Given the description of an element on the screen output the (x, y) to click on. 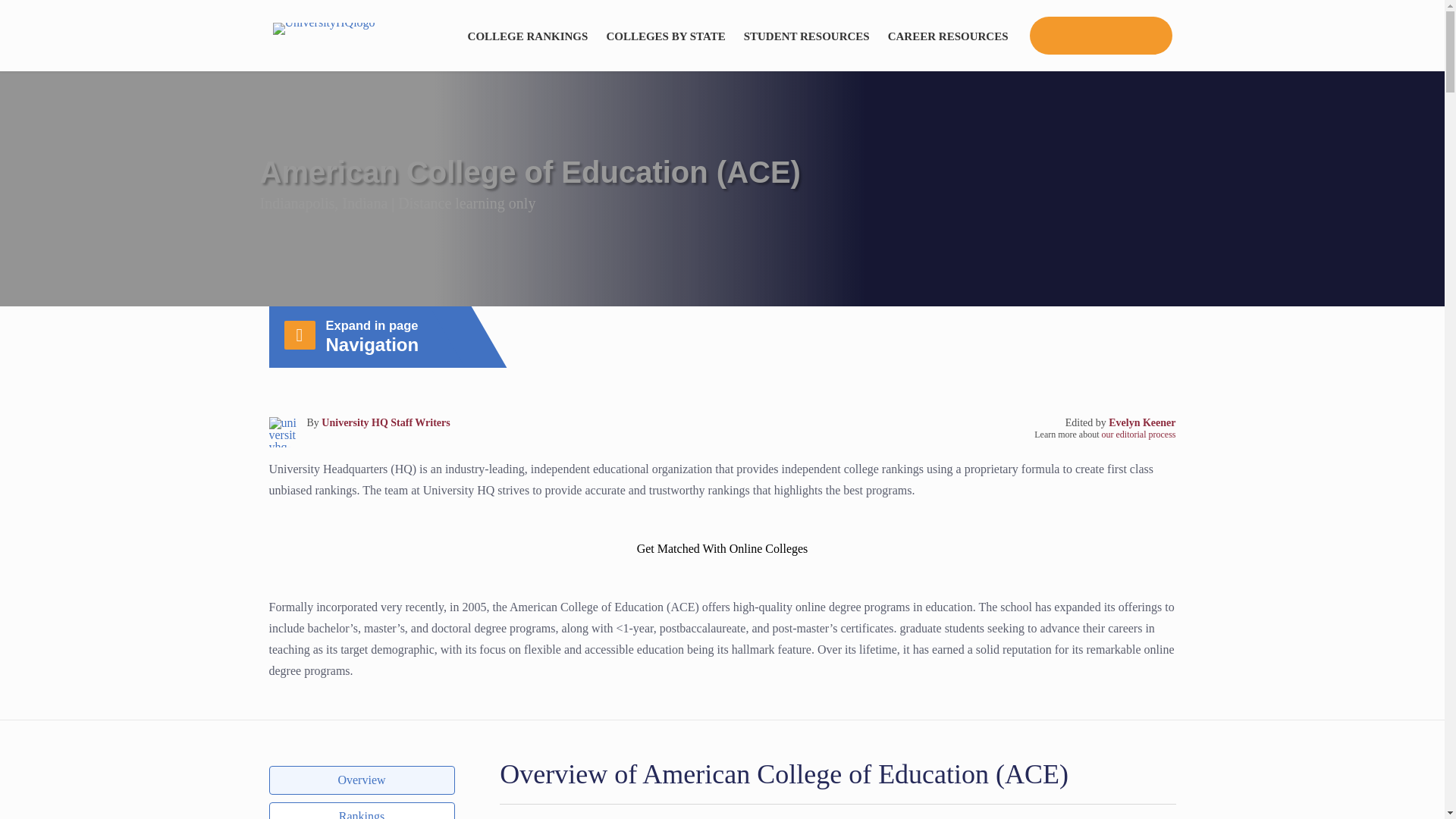
COLLEGE RANKINGS (527, 35)
